Given the description of an element on the screen output the (x, y) to click on. 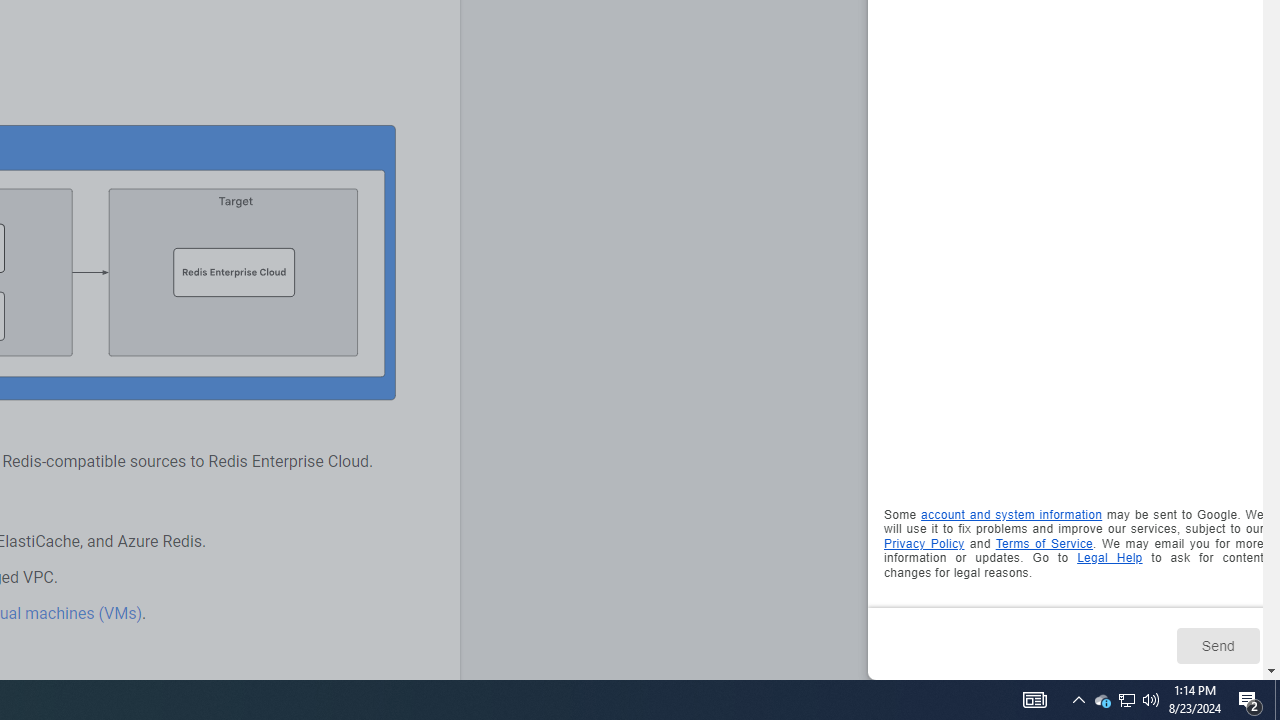
Send (1217, 645)
Opens in a new tab. Privacy Policy (924, 542)
Opens in a new tab. Terms of Service (1044, 542)
account and system information (1012, 515)
Opens in a new tab. Legal Help (1109, 557)
